Given the description of an element on the screen output the (x, y) to click on. 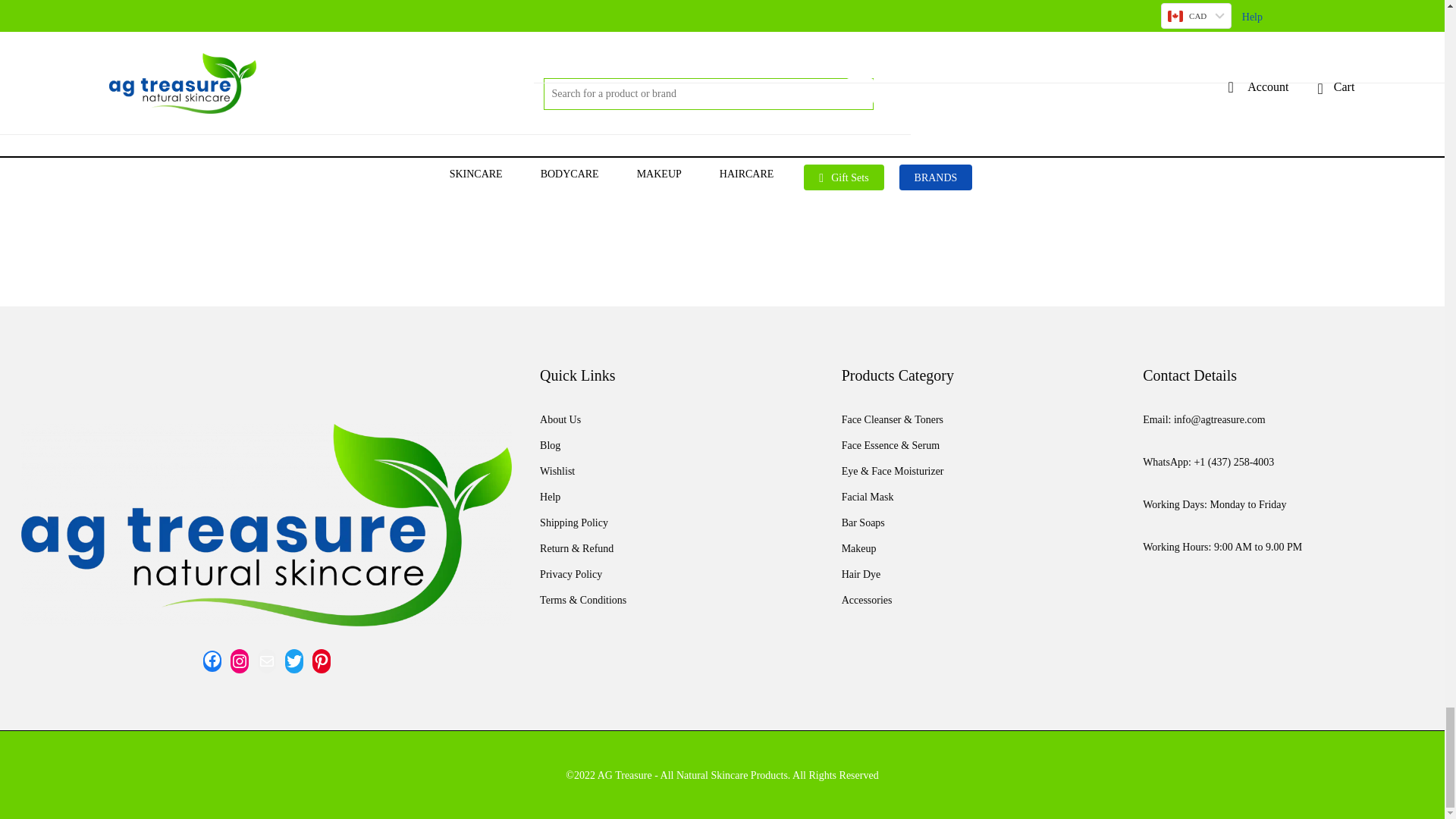
yes (367, 117)
Submit Comment (413, 181)
